Given the description of an element on the screen output the (x, y) to click on. 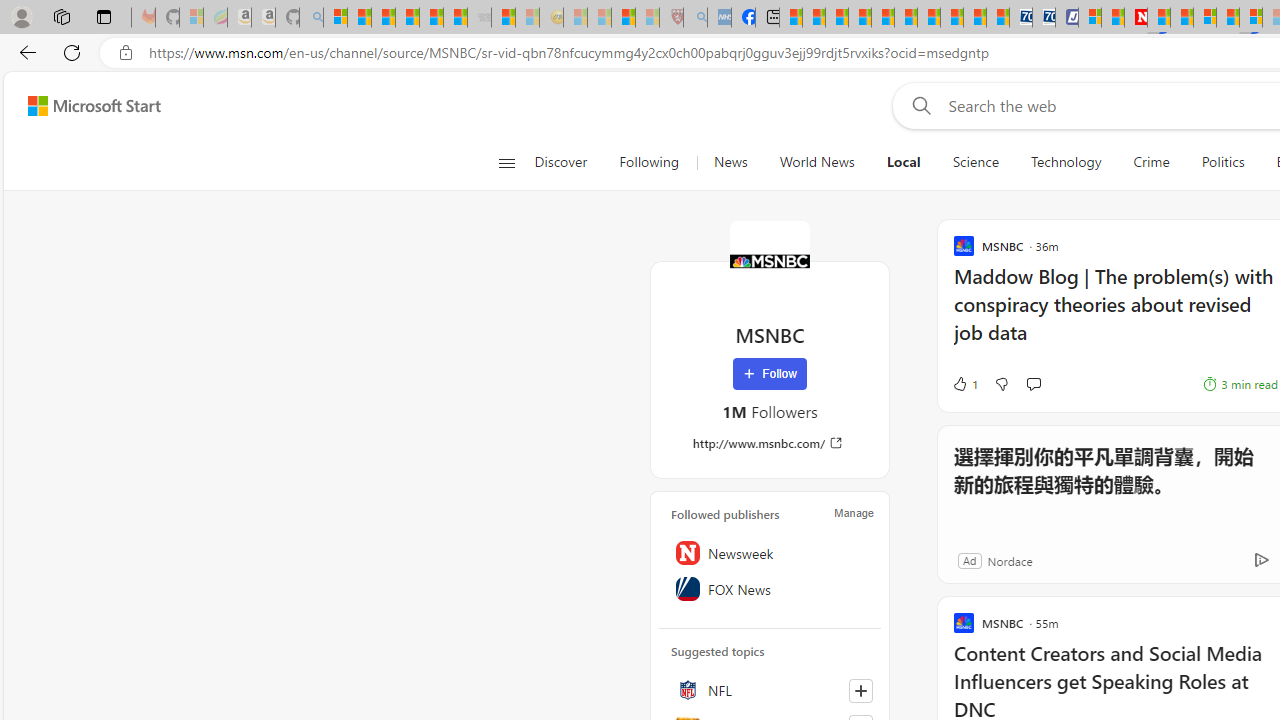
Combat Siege - Sleeping (479, 17)
The Weather Channel - MSN (383, 17)
FOX News (770, 588)
Cheap Hotels - Save70.com (1043, 17)
Climate Damage Becomes Too Severe To Reverse (859, 17)
Follow this topic (860, 690)
